Given the description of an element on the screen output the (x, y) to click on. 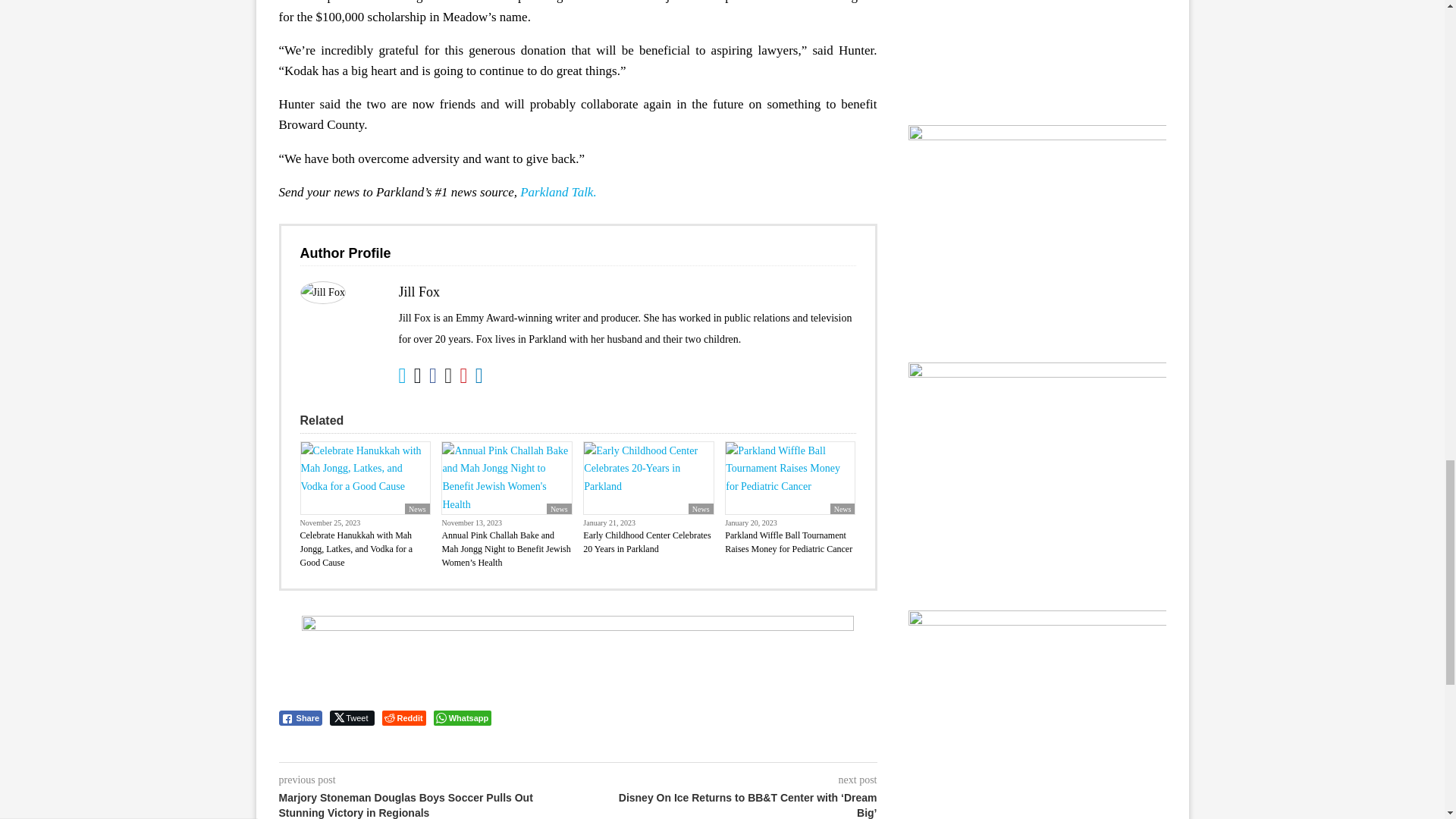
Early Childhood Center Celebrates 20 Years in Parkland 4 (648, 478)
